Given the description of an element on the screen output the (x, y) to click on. 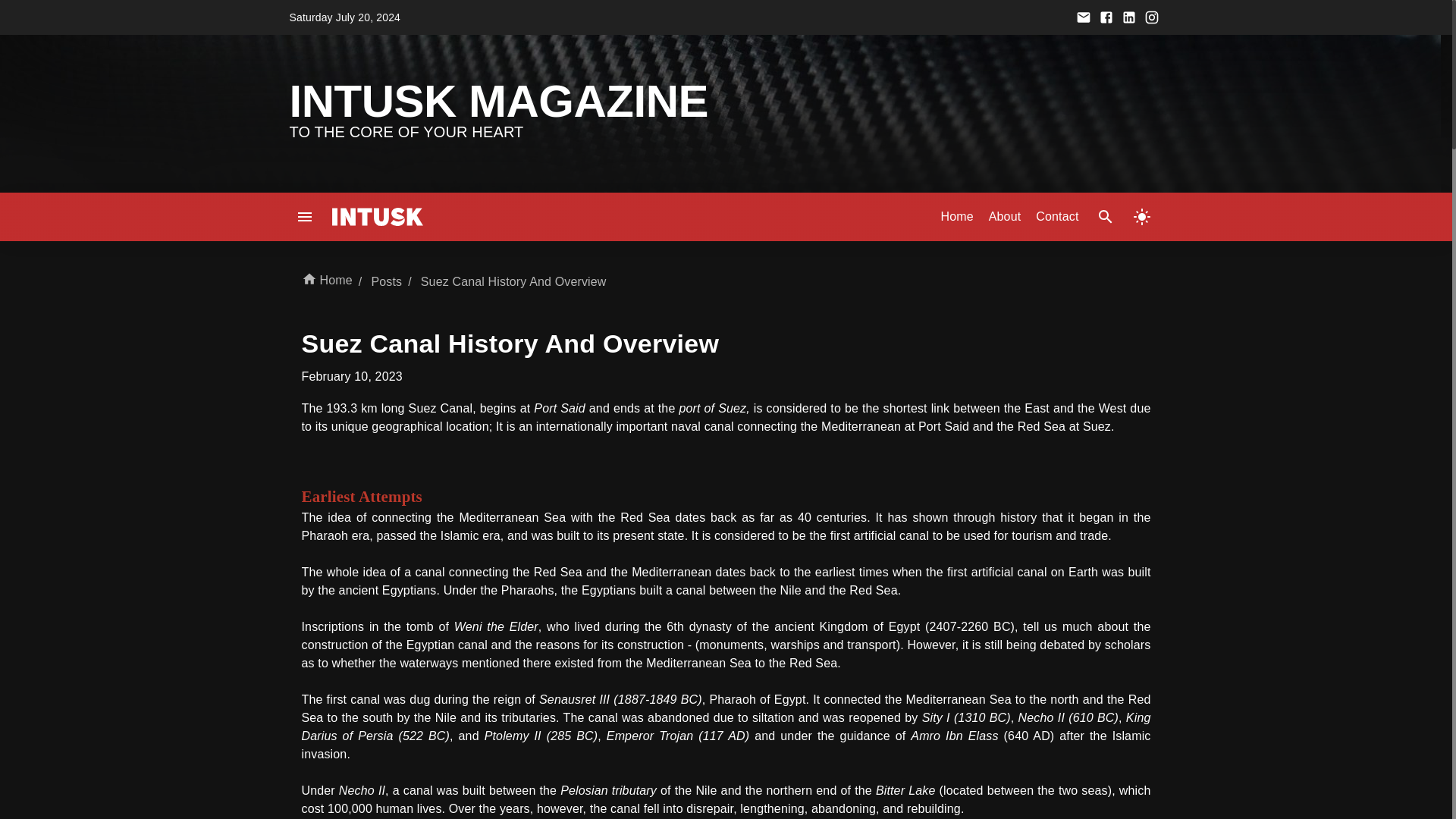
Suez Canal History And Overview (512, 281)
Home (956, 217)
Home (326, 281)
About (1005, 217)
Contact (1056, 217)
Posts (384, 281)
